Given the description of an element on the screen output the (x, y) to click on. 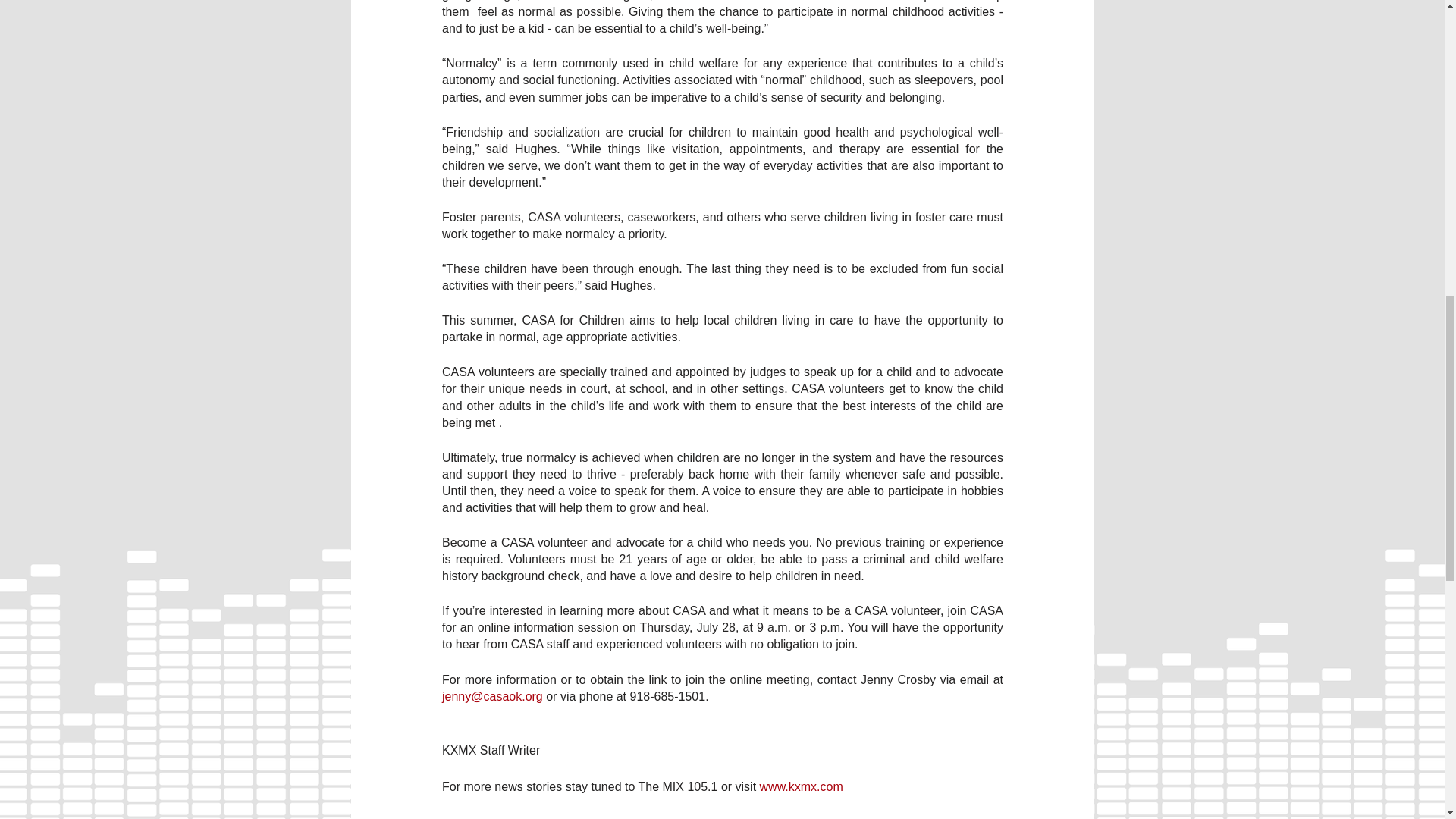
 www.kxmx.com (799, 786)
